Given the description of an element on the screen output the (x, y) to click on. 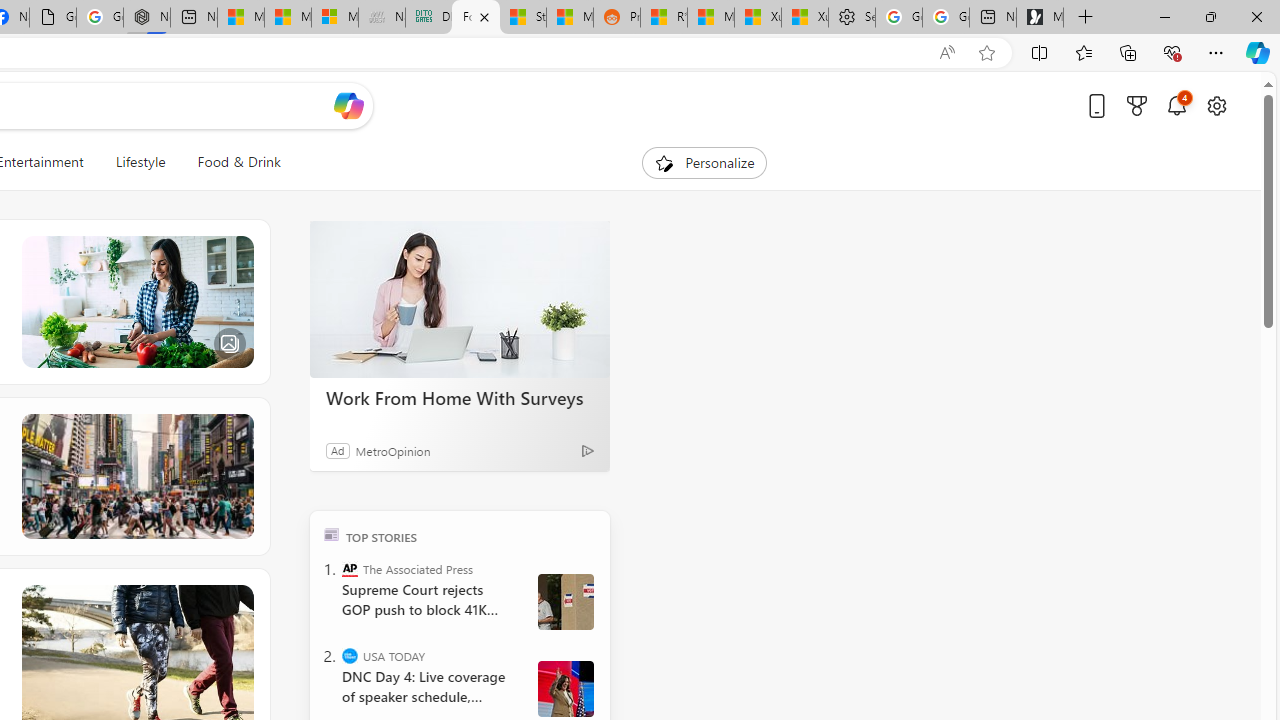
Food & Drink (230, 162)
Food and Drink - MSN (476, 17)
TOP (331, 534)
DITOGAMES AG Imprint (428, 17)
R******* | Trusted Community Engagement and Contributions (664, 17)
Microsoft Start Gaming (1040, 17)
Notifications (1176, 105)
MetroOpinion (392, 450)
